Given the description of an element on the screen output the (x, y) to click on. 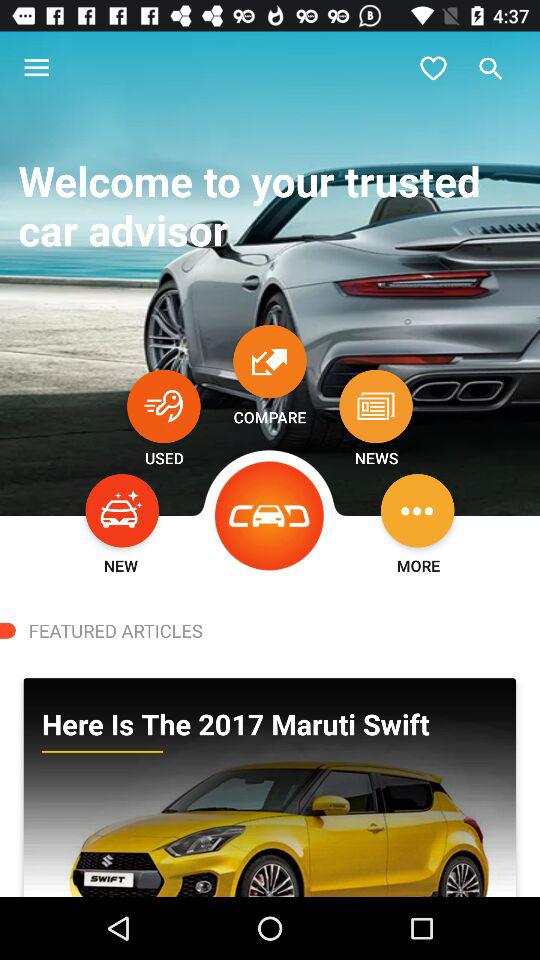
see new cars for sale (122, 510)
